Given the description of an element on the screen output the (x, y) to click on. 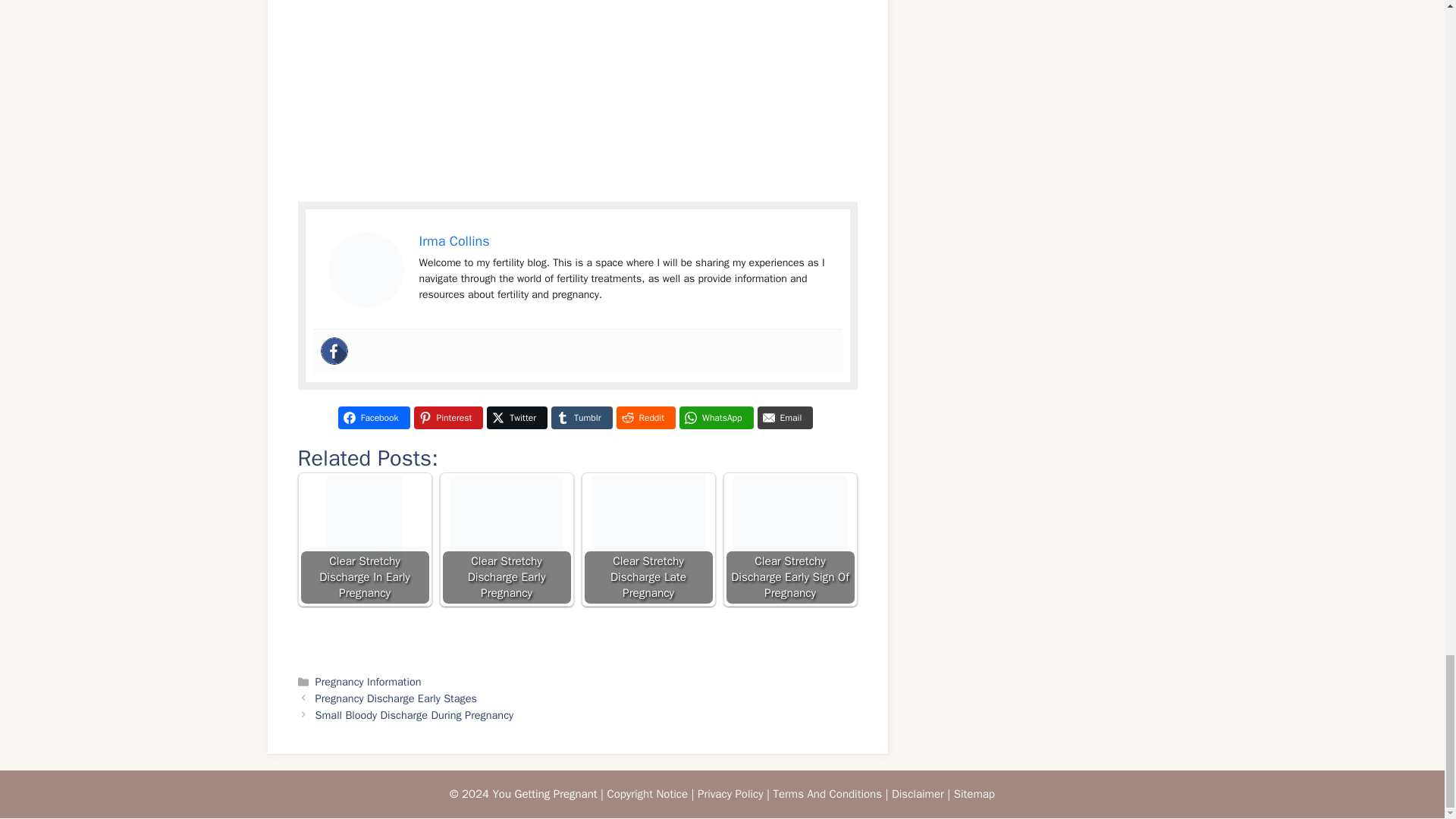
Irma Collins (454, 240)
Clear Stretchy Discharge Pregnancy (365, 269)
Facebook (333, 350)
Tumblr (581, 417)
Clear Stretchy Discharge Late Pregnancy (648, 539)
Pinterest (448, 417)
Twitter (516, 417)
Small Bloody Discharge During Pregnancy (414, 714)
Clear Stretchy Discharge In Early Pregnancy (364, 539)
Clear Stretchy Discharge Early Pregnancy (505, 539)
